Given the description of an element on the screen output the (x, y) to click on. 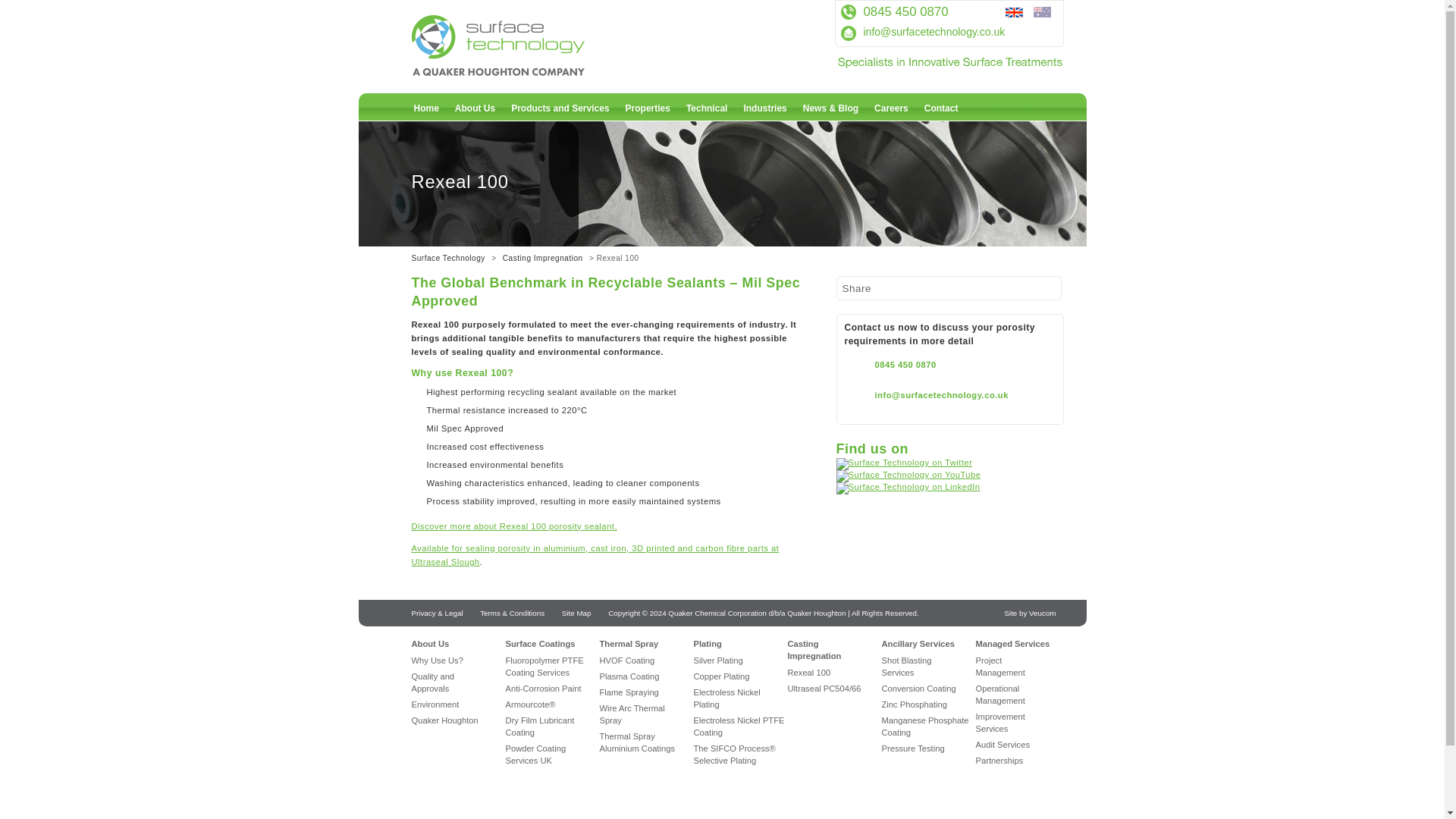
Surface Technology on Twitter (903, 461)
Surface Technology Privacy and Legal (436, 613)
Surface Technology Site Map (576, 613)
Surface Technology Terms and Conditions (512, 613)
Surface Technology on LinkedIn (907, 486)
Go to Surface Technology. (447, 257)
Surface Technology (531, 71)
About Us (474, 108)
Go to Casting Impregnation. (542, 257)
Veucom Web Design (1029, 612)
